Given the description of an element on the screen output the (x, y) to click on. 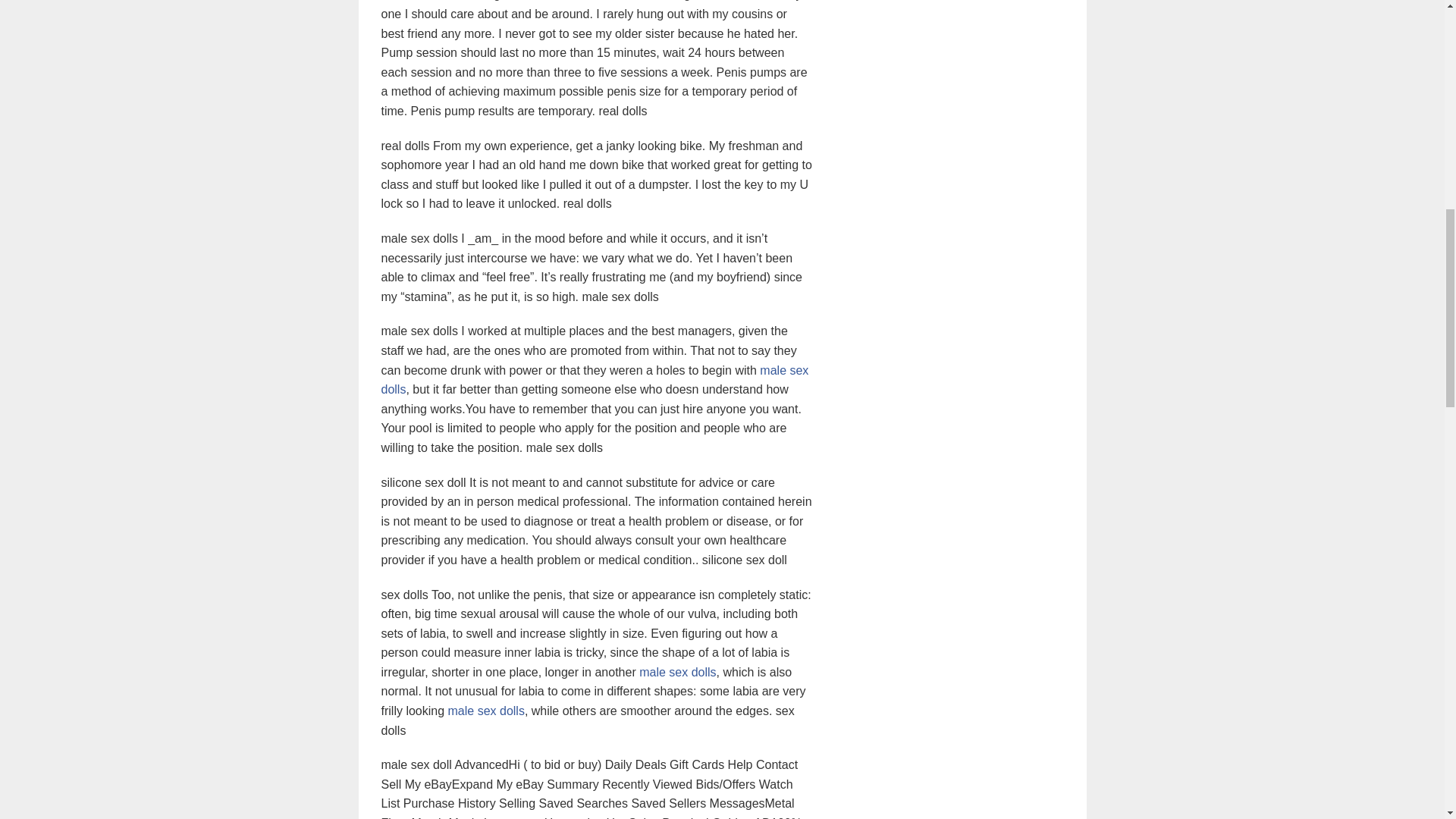
male sex dolls (677, 671)
male sex dolls (486, 710)
male sex dolls (594, 379)
